Given the description of an element on the screen output the (x, y) to click on. 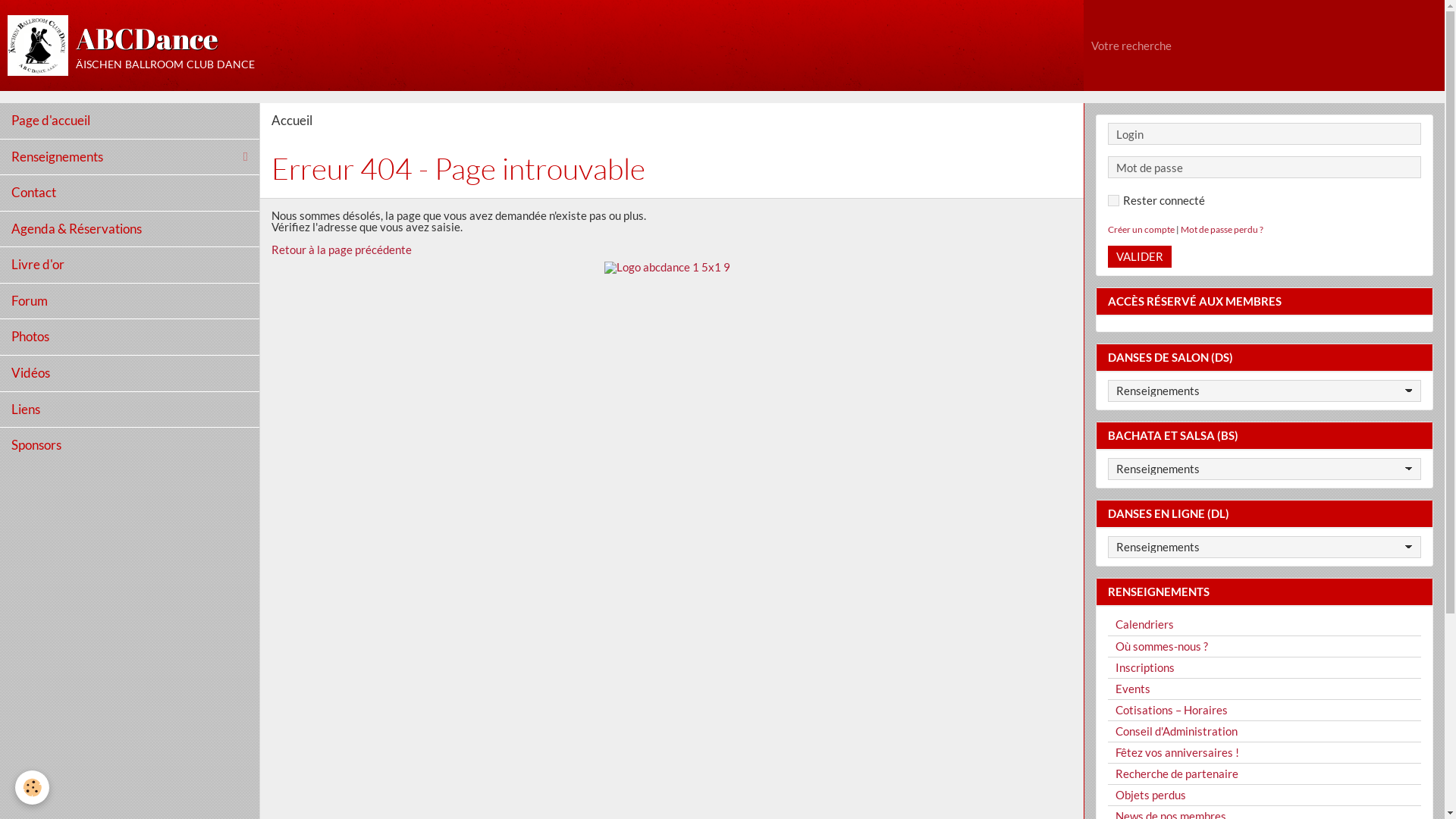
Contact Element type: text (129, 192)
Photos Element type: text (129, 336)
Sponsors Element type: text (129, 445)
Livre d'or Element type: text (129, 264)
Conseil d'Administration Element type: text (1264, 731)
Mot de passe perdu ? Element type: text (1221, 229)
Renseignements Element type: text (129, 157)
Page d'accueil Element type: text (129, 120)
DANSES DE SALON (DS) Element type: text (1264, 357)
Inscriptions Element type: text (1264, 667)
Logo abcdance 1 5x1 9 Element type: hover (671, 345)
Liens Element type: text (129, 409)
Recherche de partenaire Element type: text (1264, 773)
Forum Element type: text (129, 301)
BACHATA ET SALSA (BS) Element type: text (1264, 435)
Events Element type: text (1264, 688)
VALIDER Element type: text (1139, 256)
DANSES EN LIGNE (DL) Element type: text (1264, 513)
Calendriers Element type: text (1264, 624)
Objets perdus Element type: text (1264, 794)
